Given the description of an element on the screen output the (x, y) to click on. 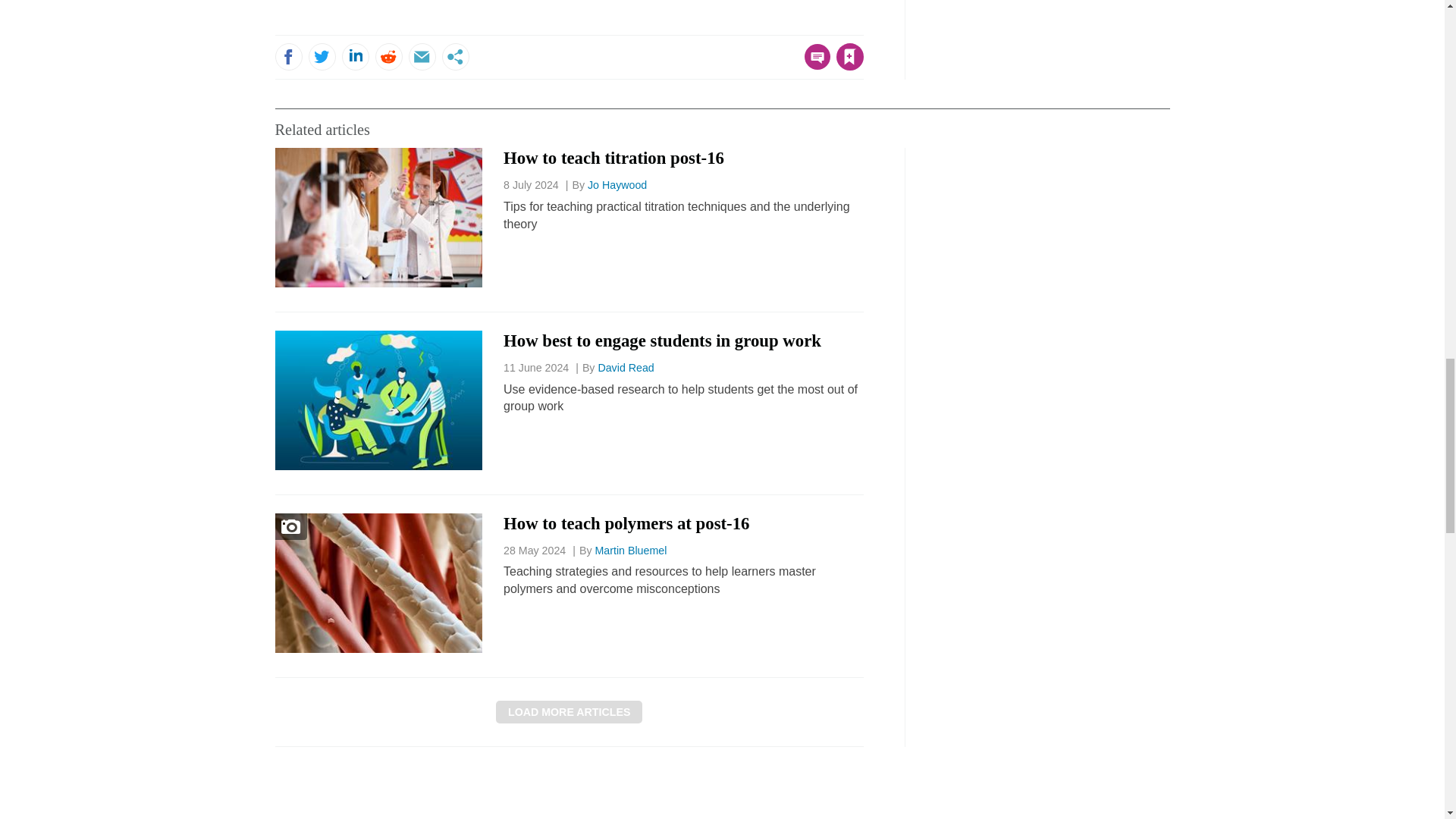
More share options (454, 56)
Share this on LinkedIn (354, 56)
No comments (812, 65)
Share this on Twitter (320, 56)
Share this on Reddit (387, 56)
Share this on Facebook (288, 56)
Share this by email (421, 56)
